Given the description of an element on the screen output the (x, y) to click on. 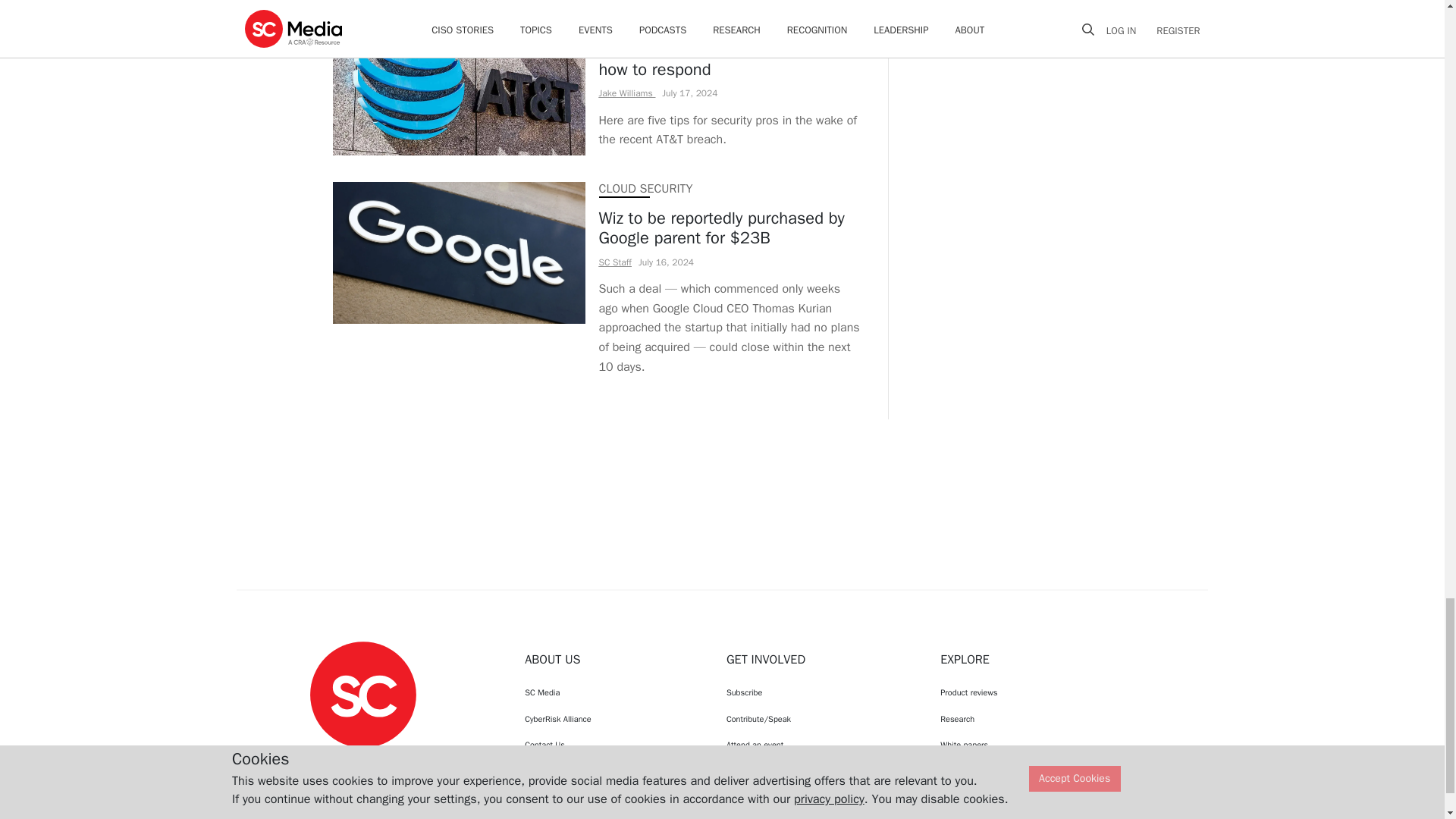
SCMagazine on Twitter (362, 761)
SCMagazine on Facebook (324, 761)
BREACH (620, 19)
SC Staff (614, 262)
SC Media (362, 693)
SCMagazine on LinkedIn (401, 761)
Jake Williams (627, 92)
CLOUD SECURITY (645, 188)
